Given the description of an element on the screen output the (x, y) to click on. 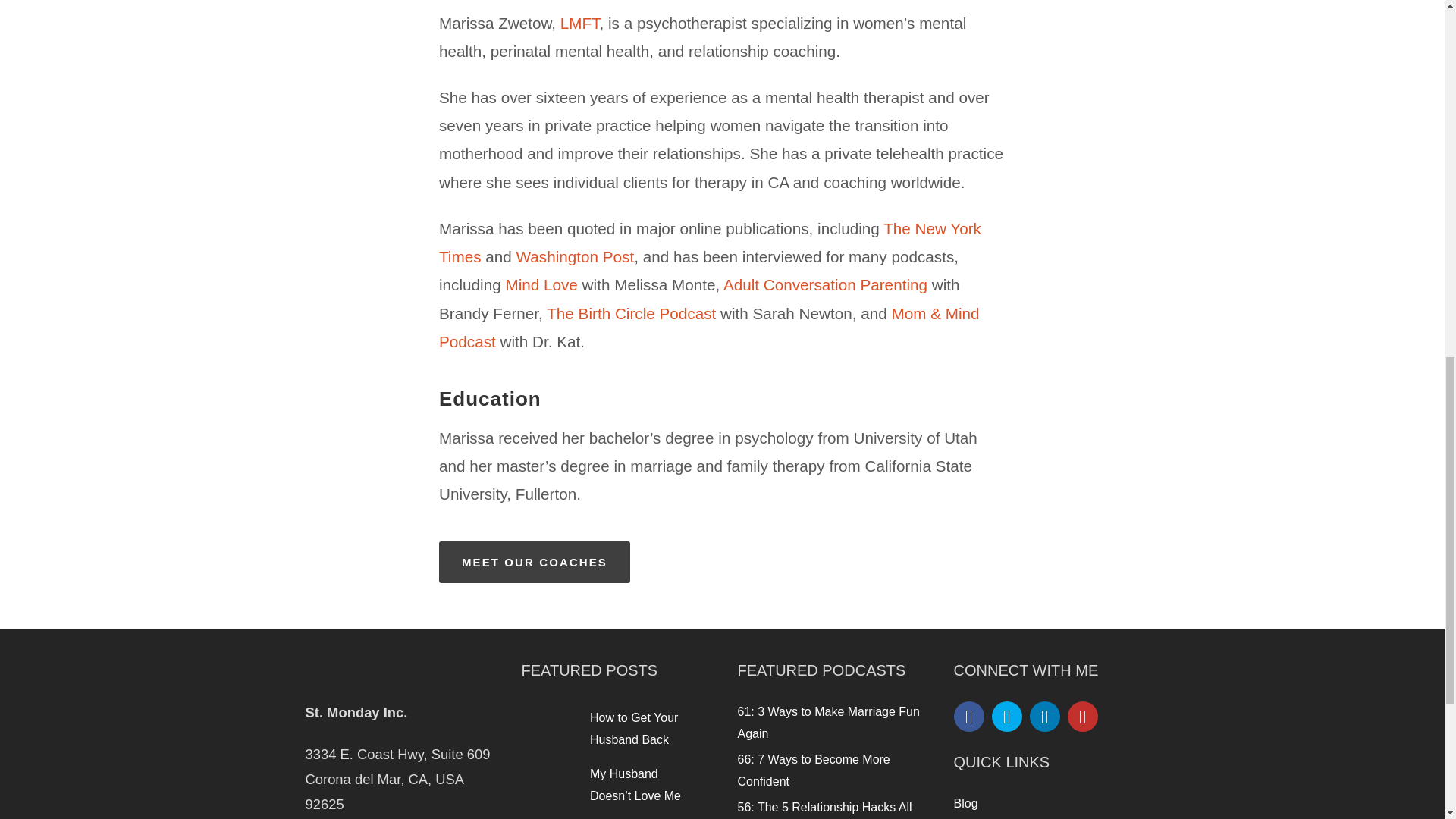
61: 3 Ways to Make Marriage Fun Again (827, 722)
Adult Conversation Parenting (825, 284)
Mind Love (540, 284)
The New York Times (710, 242)
Washington Post (575, 256)
56: The 5 Relationship Hacks All Women Should Know (823, 809)
Scroll back to top (1406, 720)
MEET OUR COACHES (534, 562)
LMFT (579, 22)
66: 7 Ways to Become More Confident (812, 769)
